Given the description of an element on the screen output the (x, y) to click on. 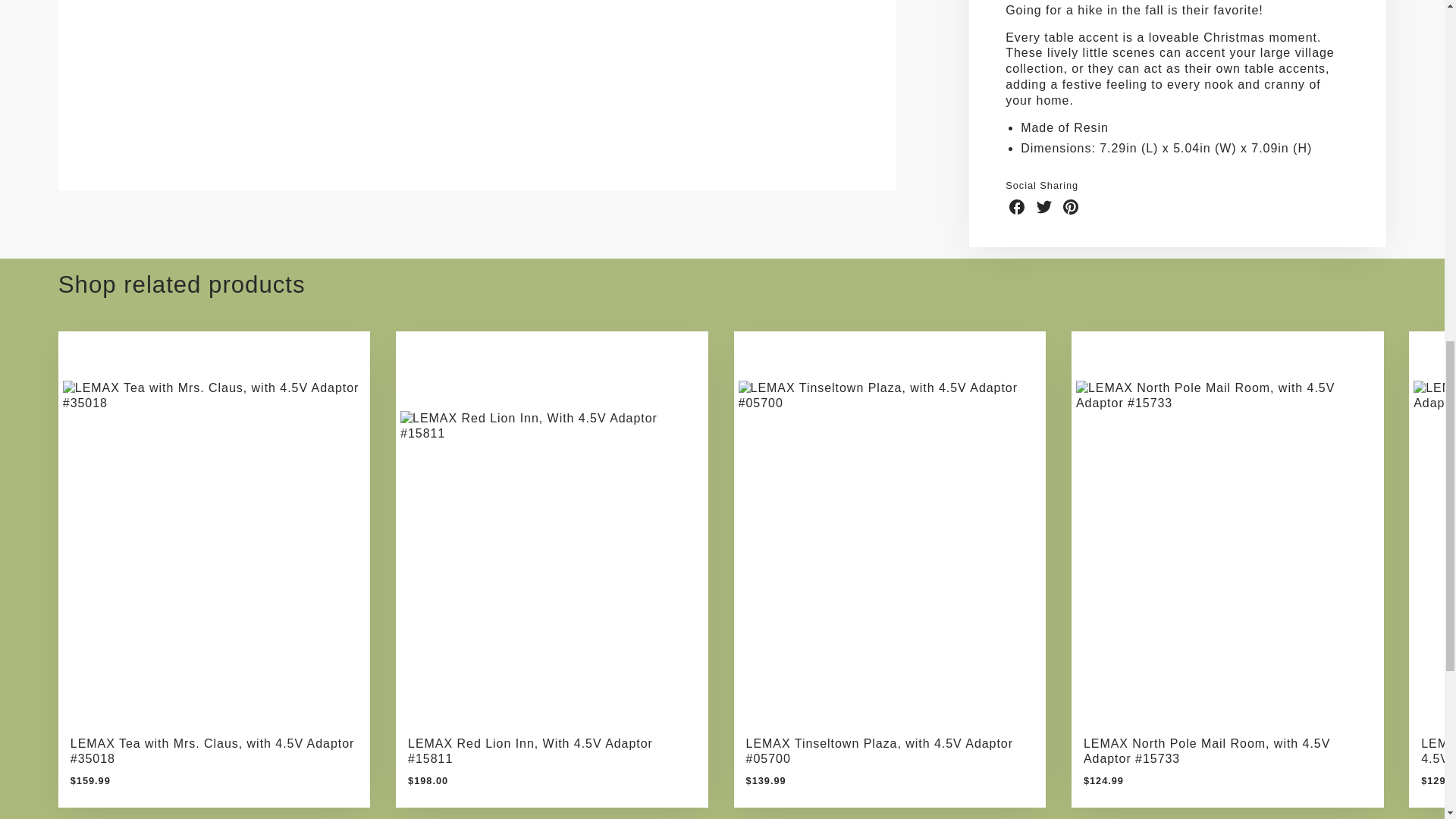
Tweet on Twitter (1043, 206)
Pin on Pinterest (1070, 206)
Share on Facebook (1016, 206)
